Given the description of an element on the screen output the (x, y) to click on. 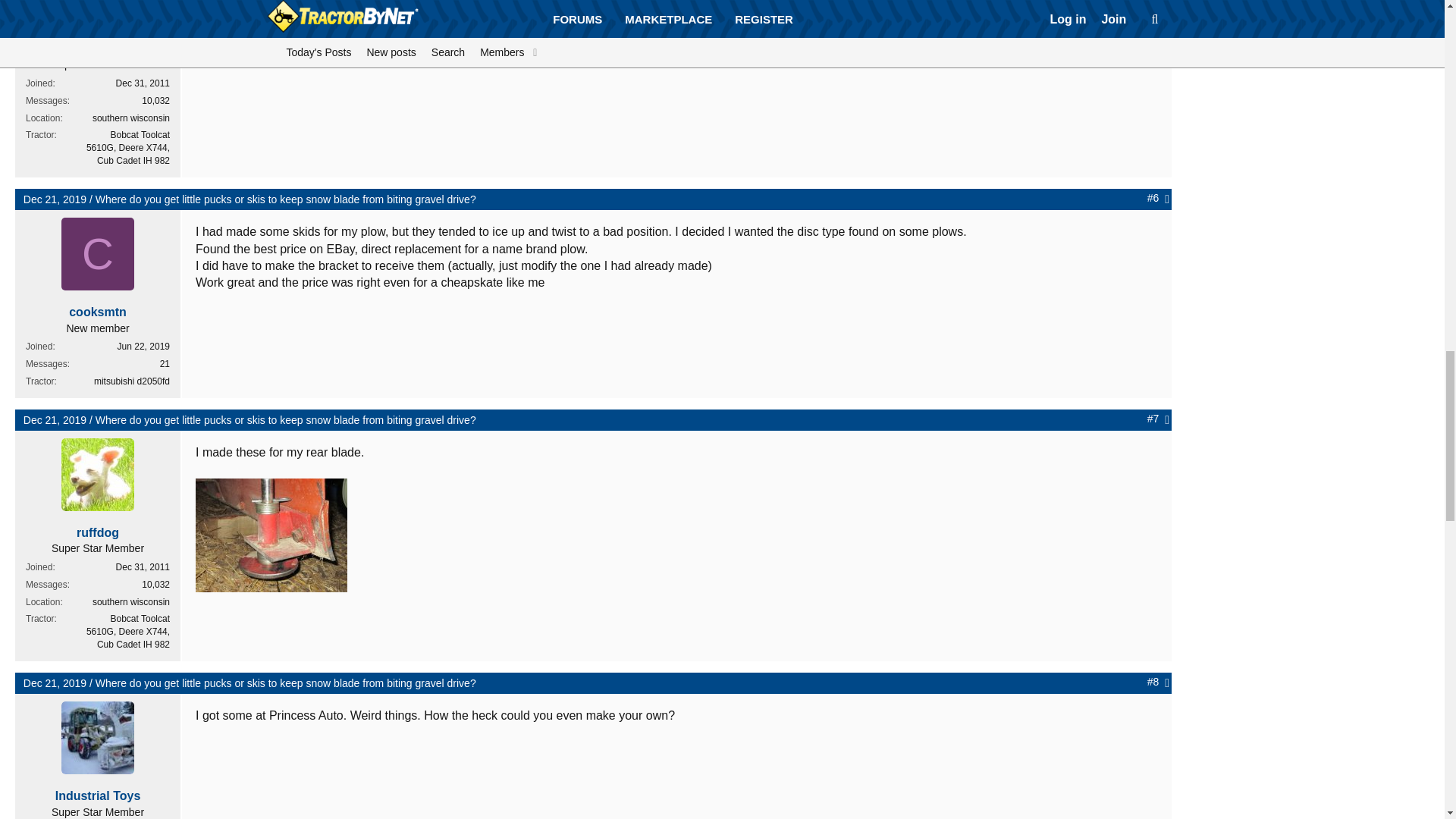
Dec 21, 2019 at 11:54 PM (54, 683)
Dec 21, 2019 at 10:54 PM (54, 419)
Dec 21, 2019 at 10:17 PM (54, 199)
